Given the description of an element on the screen output the (x, y) to click on. 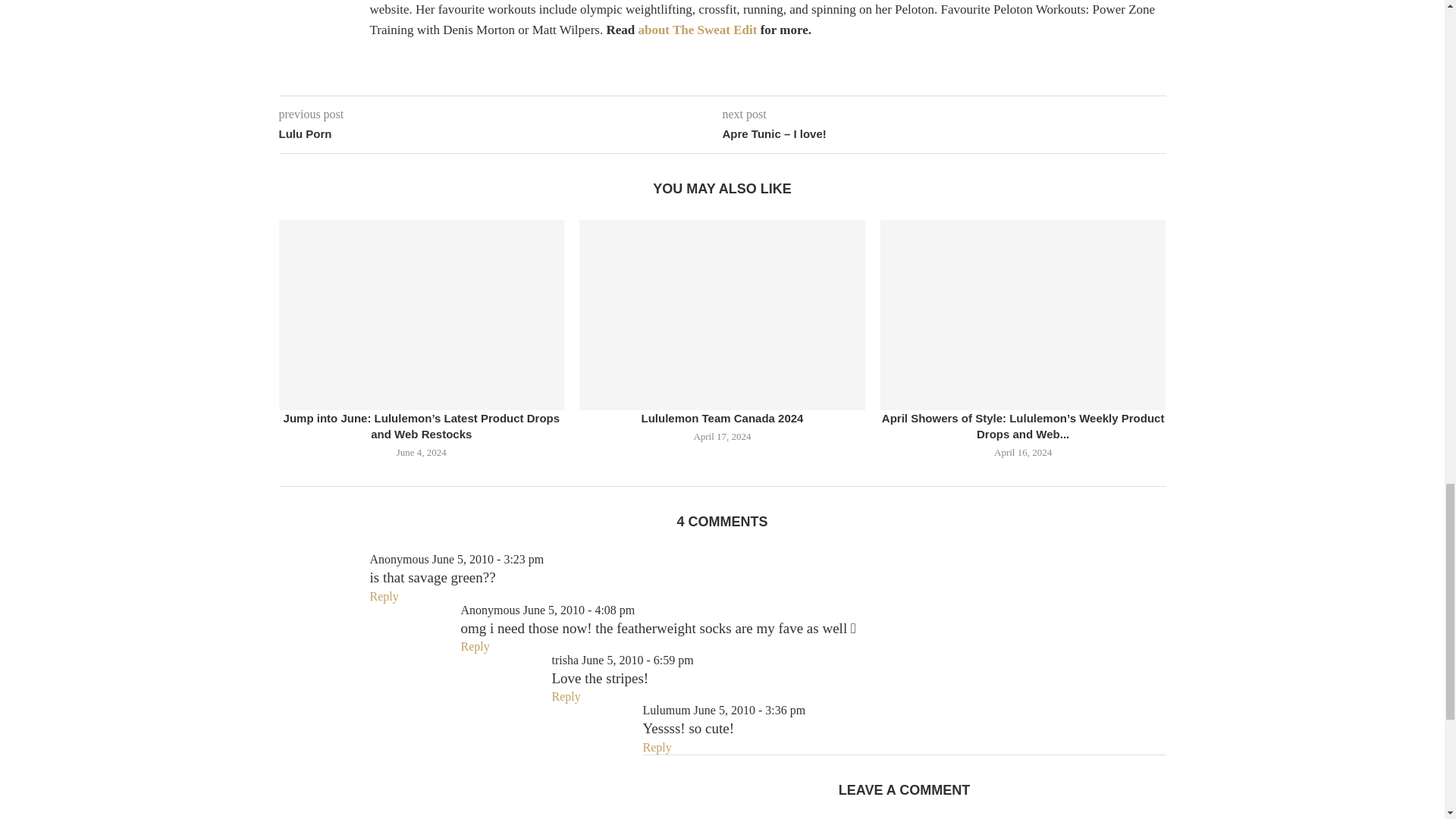
Saturday, June 5, 2010, 4:08 pm (578, 609)
Saturday, June 5, 2010, 3:23 pm (488, 558)
Saturday, June 5, 2010, 6:59 pm (637, 659)
Saturday, June 5, 2010, 3:36 pm (750, 709)
Lululemon Team Canada 2024 (721, 315)
about The Sweat Edit (697, 29)
